Given the description of an element on the screen output the (x, y) to click on. 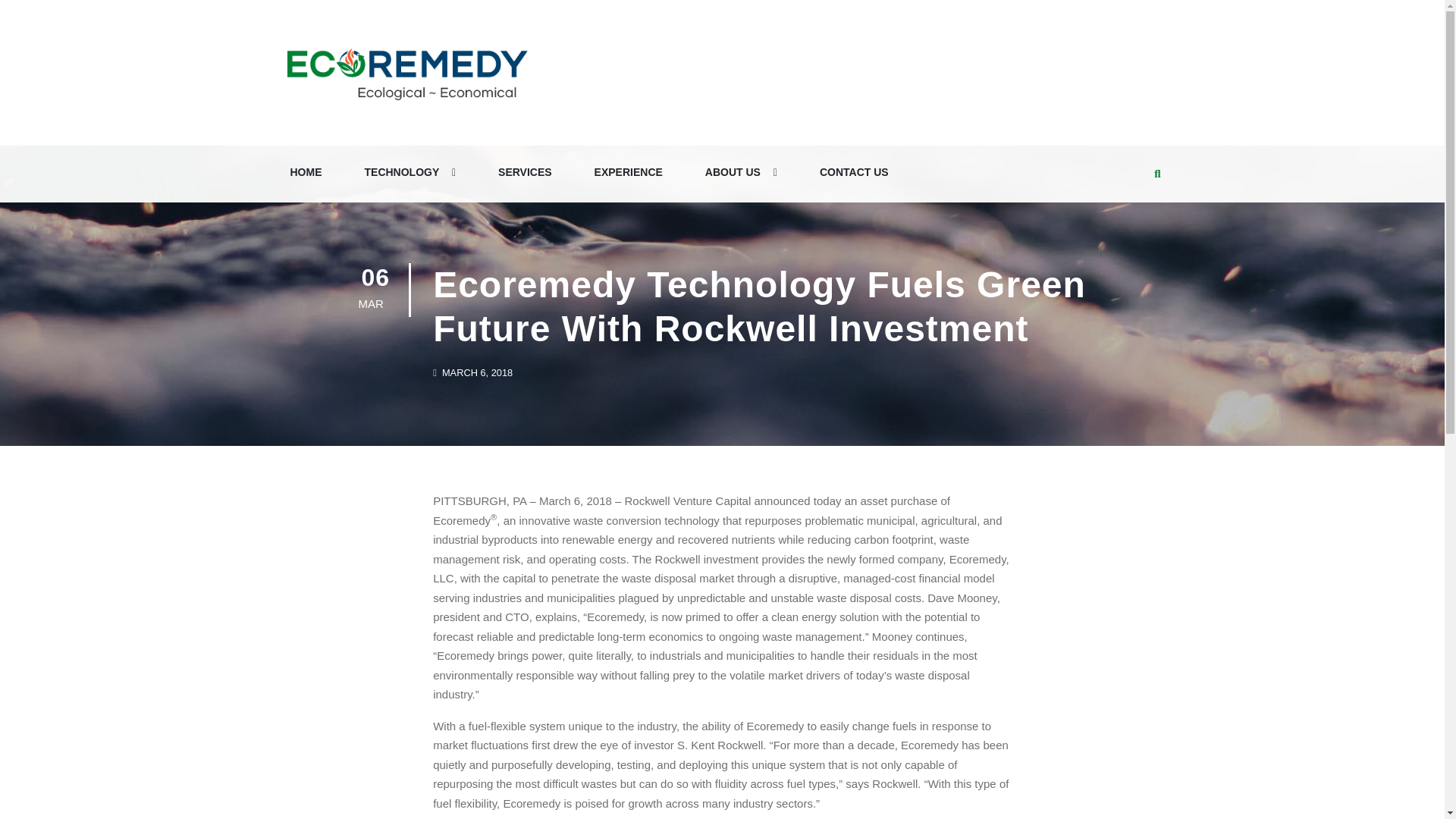
EXPERIENCE (628, 172)
SERVICES (524, 172)
CONTACT US (854, 172)
ABOUT US (740, 172)
TECHNOLOGY (409, 172)
Ecoremedy-LogoTagline-02 (406, 72)
HOME (305, 172)
